Given the description of an element on the screen output the (x, y) to click on. 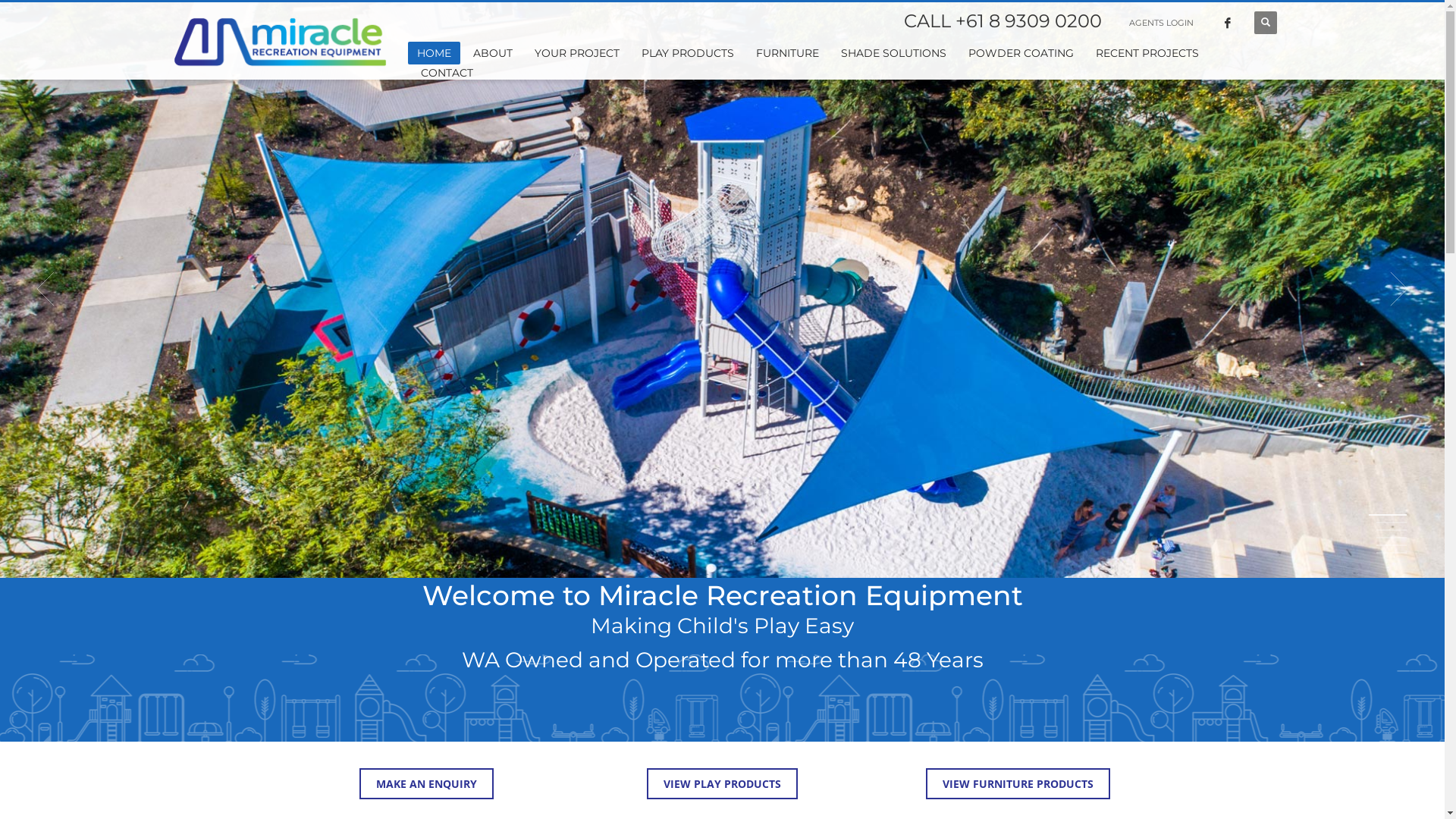
1 Element type: text (1387, 514)
5 Element type: text (1391, 544)
RECENT PROJECTS Element type: text (1147, 52)
CONTACT Element type: text (446, 72)
AGENTS LOGIN Element type: text (1161, 22)
Facebook Element type: hover (1227, 22)
6 Element type: text (1391, 552)
ABOUT Element type: text (492, 52)
3 Element type: text (1391, 529)
VIEW FURNITURE PRODUCTS Element type: text (1017, 783)
FURNITURE Element type: text (787, 52)
YOUR PROJECT Element type: text (576, 52)
Miracle-Recreation-Equipment Element type: hover (722, 288)
2 Element type: text (1391, 522)
VIEW PLAY PRODUCTS Element type: text (721, 783)
MAKE AN ENQUIRY Element type: text (426, 783)
HOME Element type: text (433, 52)
SHADE SOLUTIONS Element type: text (893, 52)
Playground Equipment Australia Element type: hover (279, 41)
POWDER COATING Element type: text (1020, 52)
PLAY PRODUCTS Element type: text (687, 52)
4 Element type: text (1391, 537)
